Given the description of an element on the screen output the (x, y) to click on. 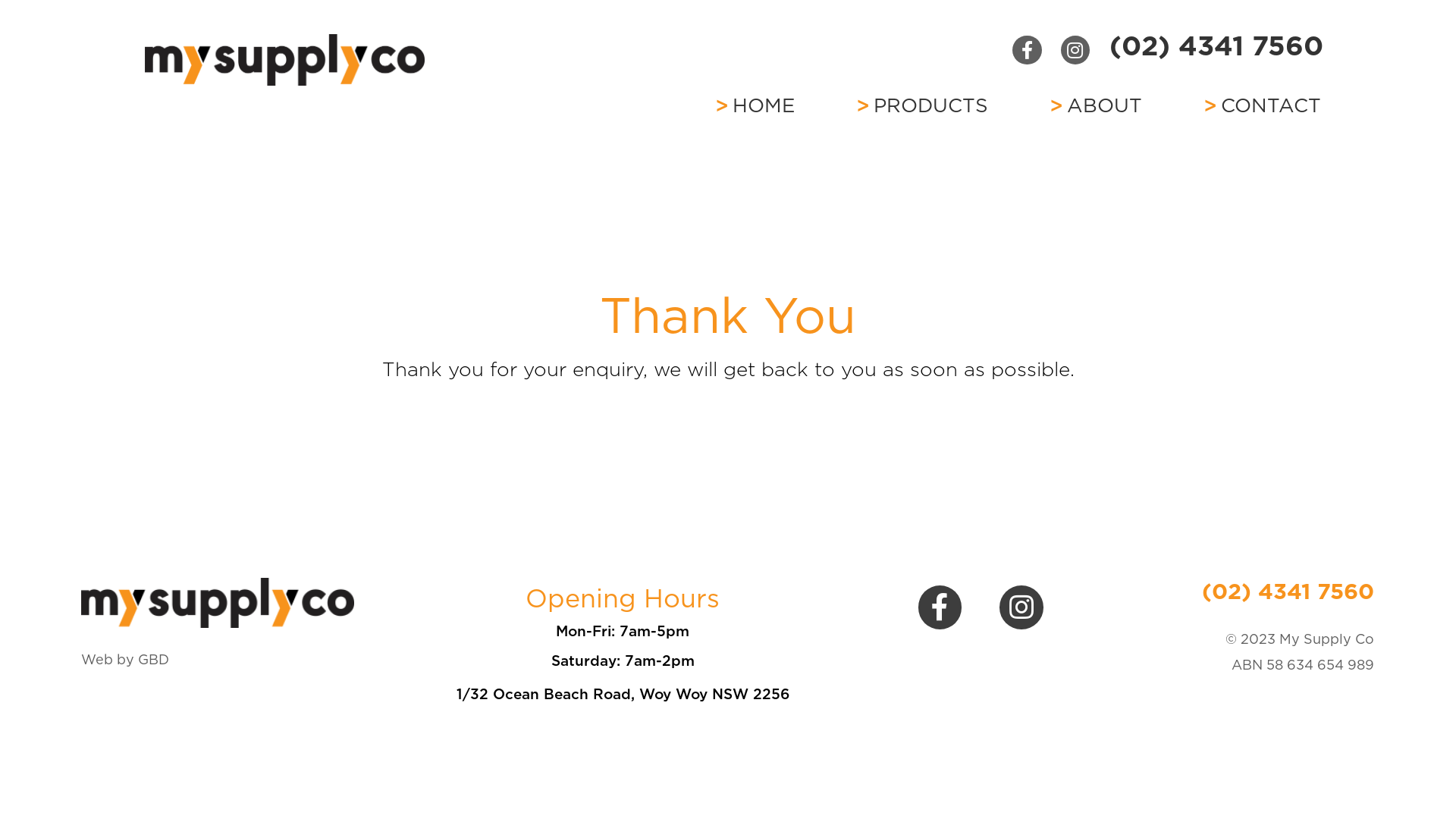
(02) 4341 7560 Element type: text (1216, 45)
CONTACT Element type: text (1262, 104)
1/32 Ocean Beach Road, Woy Woy NSW 2256 Element type: text (622, 693)
Web by GBD Element type: text (125, 659)
HOME Element type: text (754, 104)
logo Element type: hover (217, 602)
ABOUT Element type: text (1095, 104)
(02) 4341 7560 Element type: text (1287, 590)
Mon-Fri: 7am-5pm
Saturday: 7am-2pm Element type: text (622, 645)
PRODUCTS Element type: text (921, 104)
